Given the description of an element on the screen output the (x, y) to click on. 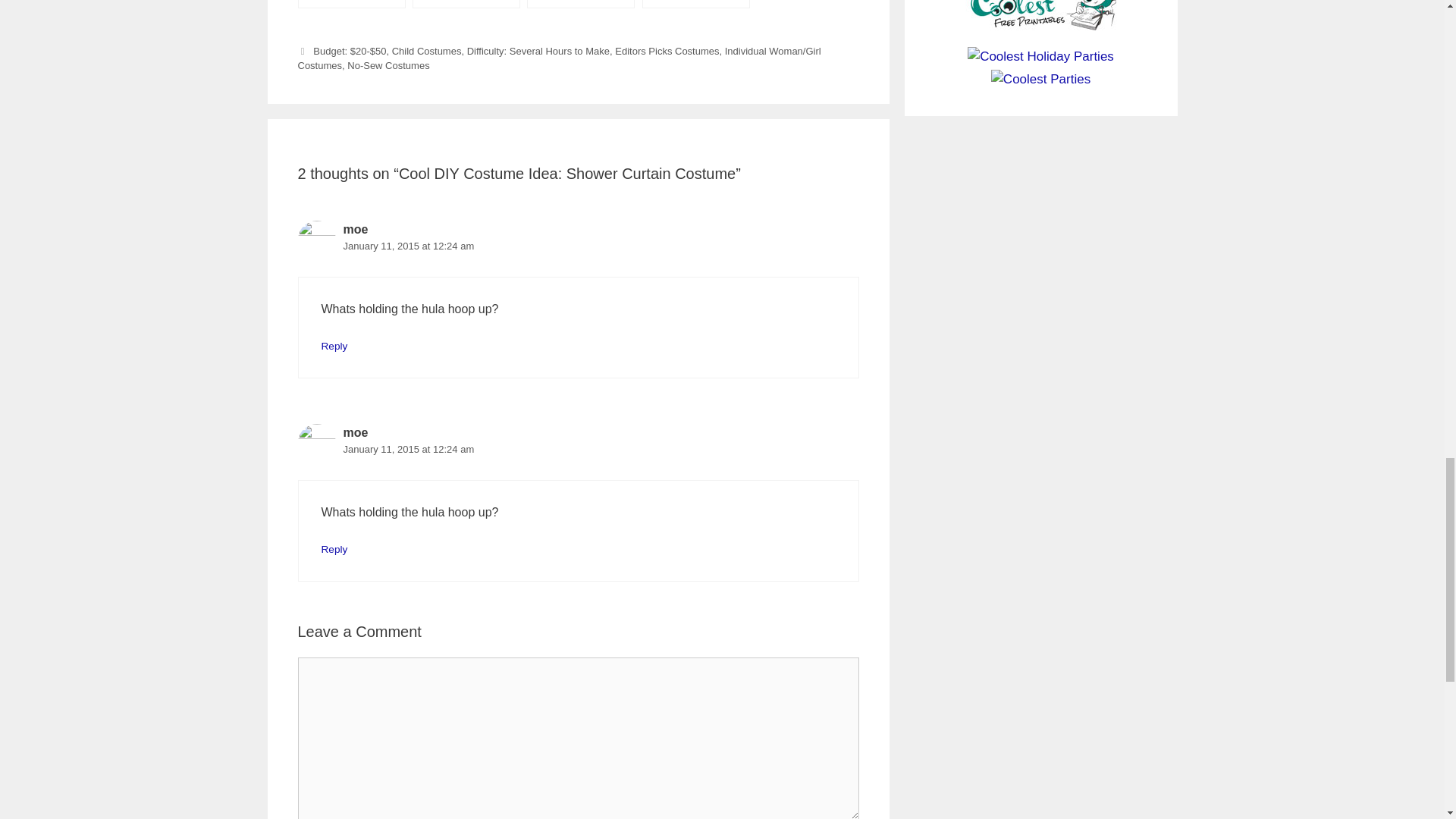
Washing the Cat Couple Costume (350, 4)
Coolest Bathtub Halloween Costume (465, 4)
Coolest Toilet Paper Roll Costume (580, 4)
Tooth Fairy Costume for a Sweet Girl (695, 4)
